Given the description of an element on the screen output the (x, y) to click on. 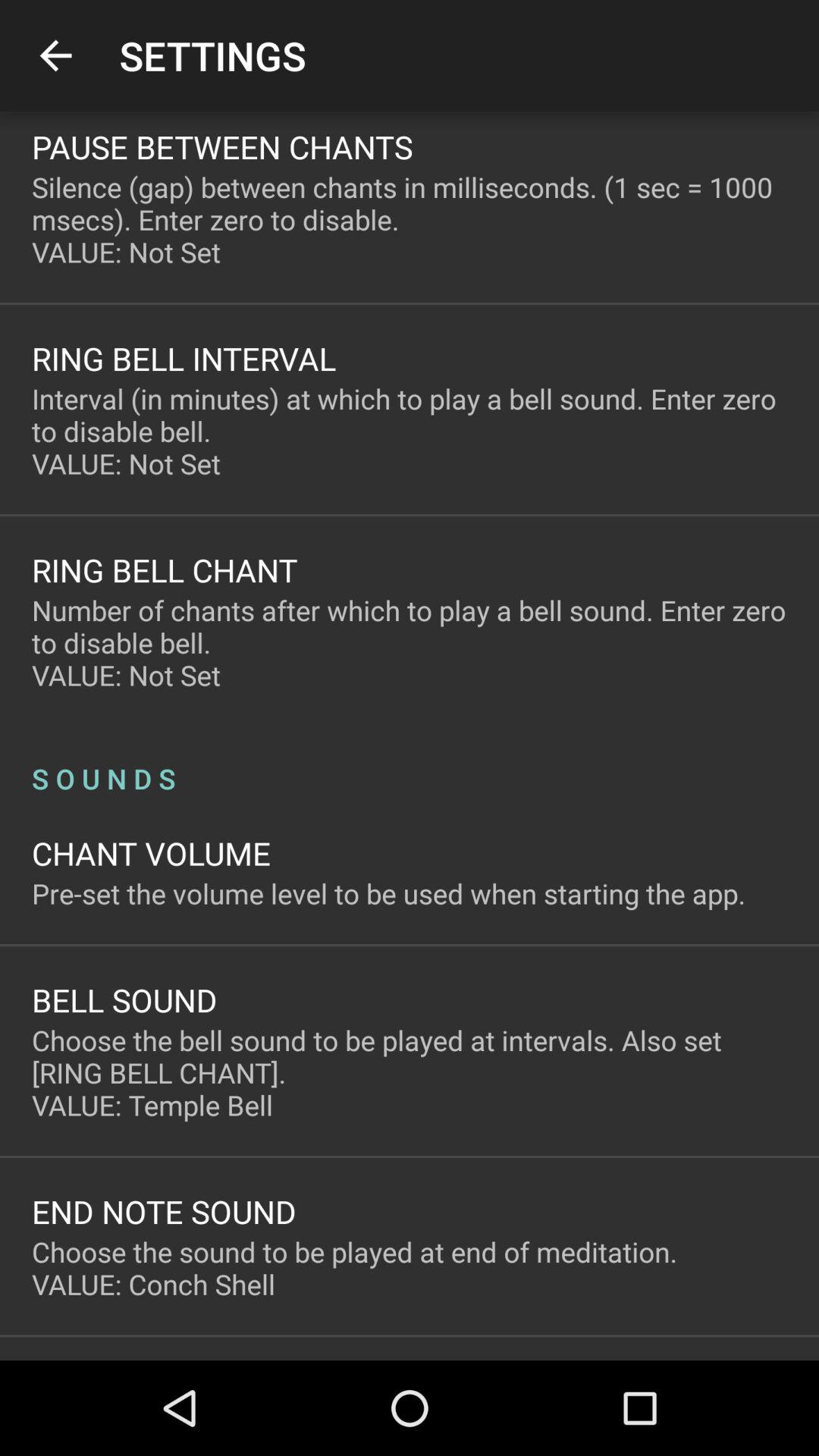
press the item below the s o u item (150, 852)
